Given the description of an element on the screen output the (x, y) to click on. 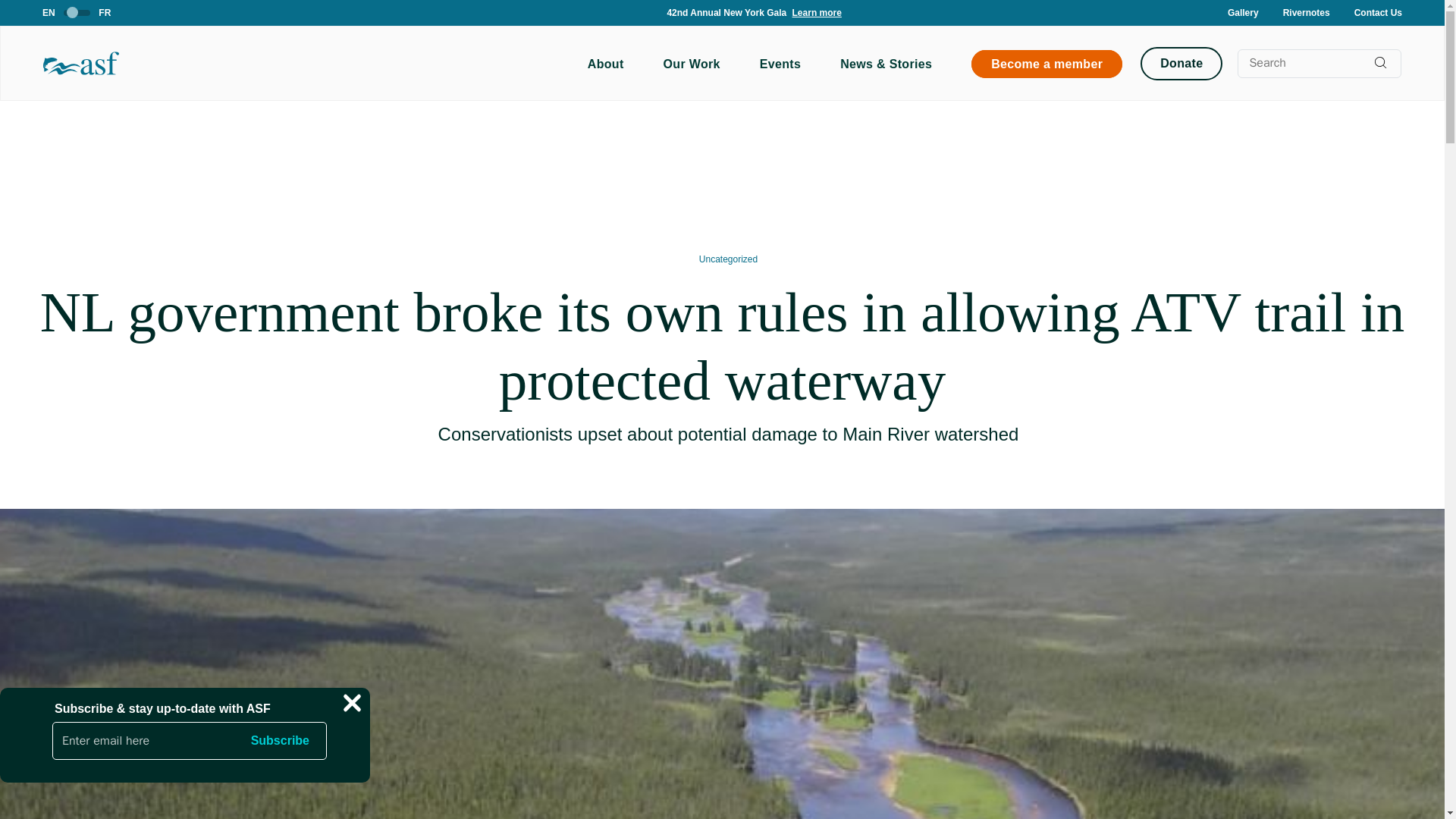
Events (780, 63)
Become a member (1046, 63)
Gallery (1243, 12)
Learn more (815, 12)
Become a member (1046, 63)
Learn more (790, 11)
About (605, 63)
Rivernotes (1306, 12)
Subscribe (279, 740)
Our Work (691, 63)
Donate (1181, 63)
Contact Us (1378, 12)
Subscribe (279, 740)
